Given the description of an element on the screen output the (x, y) to click on. 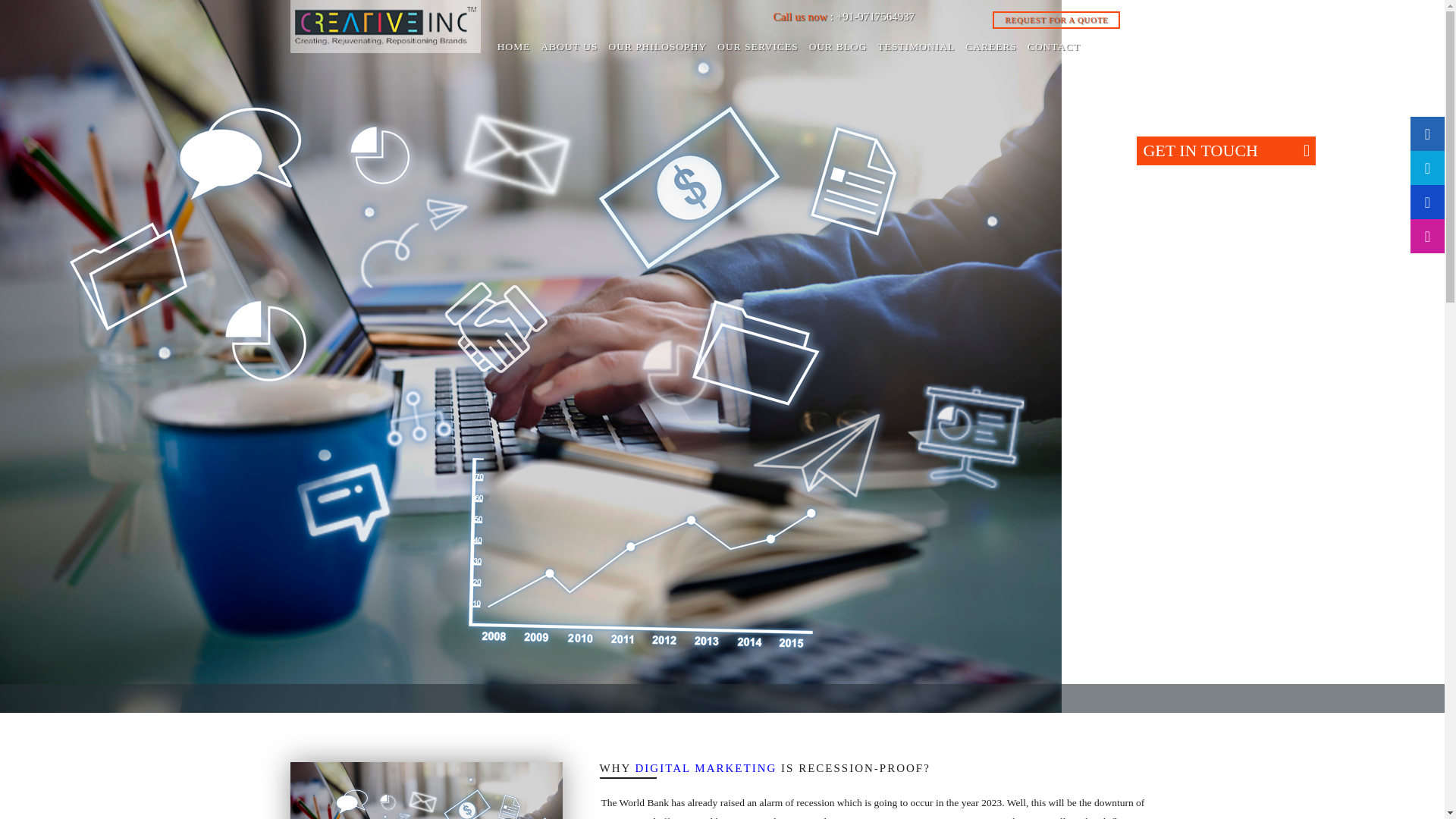
OUR BLOG (837, 46)
CAREERS (990, 46)
REQUEST FOR A QUOTE (1055, 19)
DIGITAL MARKETING (705, 767)
CONTACT (1054, 46)
OUR SERVICES (757, 46)
OUR PHILOSOPHY (656, 46)
TESTIMONIAL (915, 46)
ABOUT US (568, 46)
GET IN TOUCH (1225, 150)
